Given the description of an element on the screen output the (x, y) to click on. 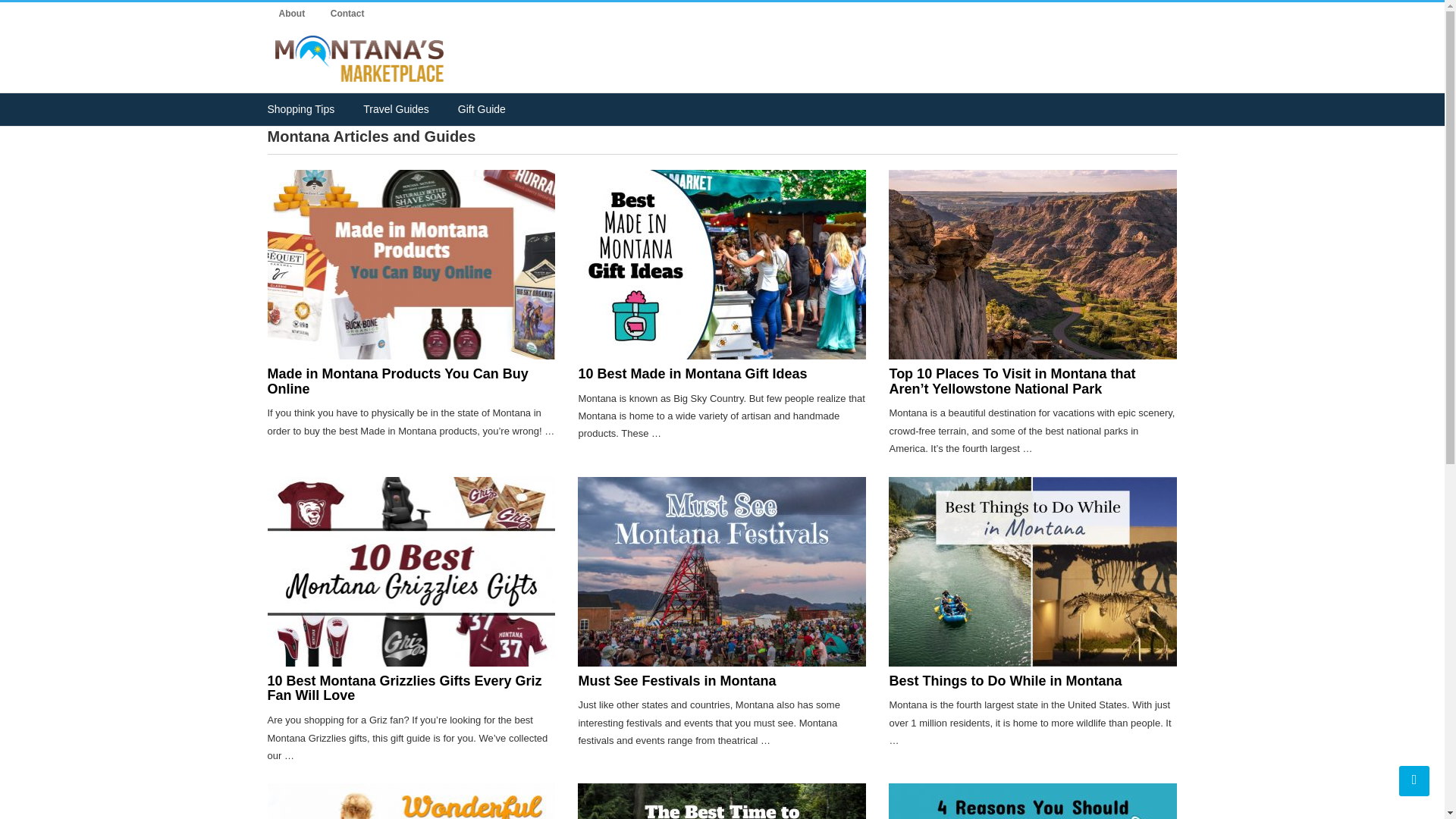
Best Things to Do While in Montana (1004, 680)
Shopping Tips (300, 109)
Must See Festivals in Montana (677, 680)
Gift Guide (481, 109)
About (291, 13)
10 Best Made in Montana Gift Ideas (692, 373)
Made in Montana Products You Can Buy Online (396, 381)
Travel Guides (395, 109)
10 Best Montana Grizzlies Gifts Every Griz Fan Will Love (403, 688)
Contact (347, 13)
